Given the description of an element on the screen output the (x, y) to click on. 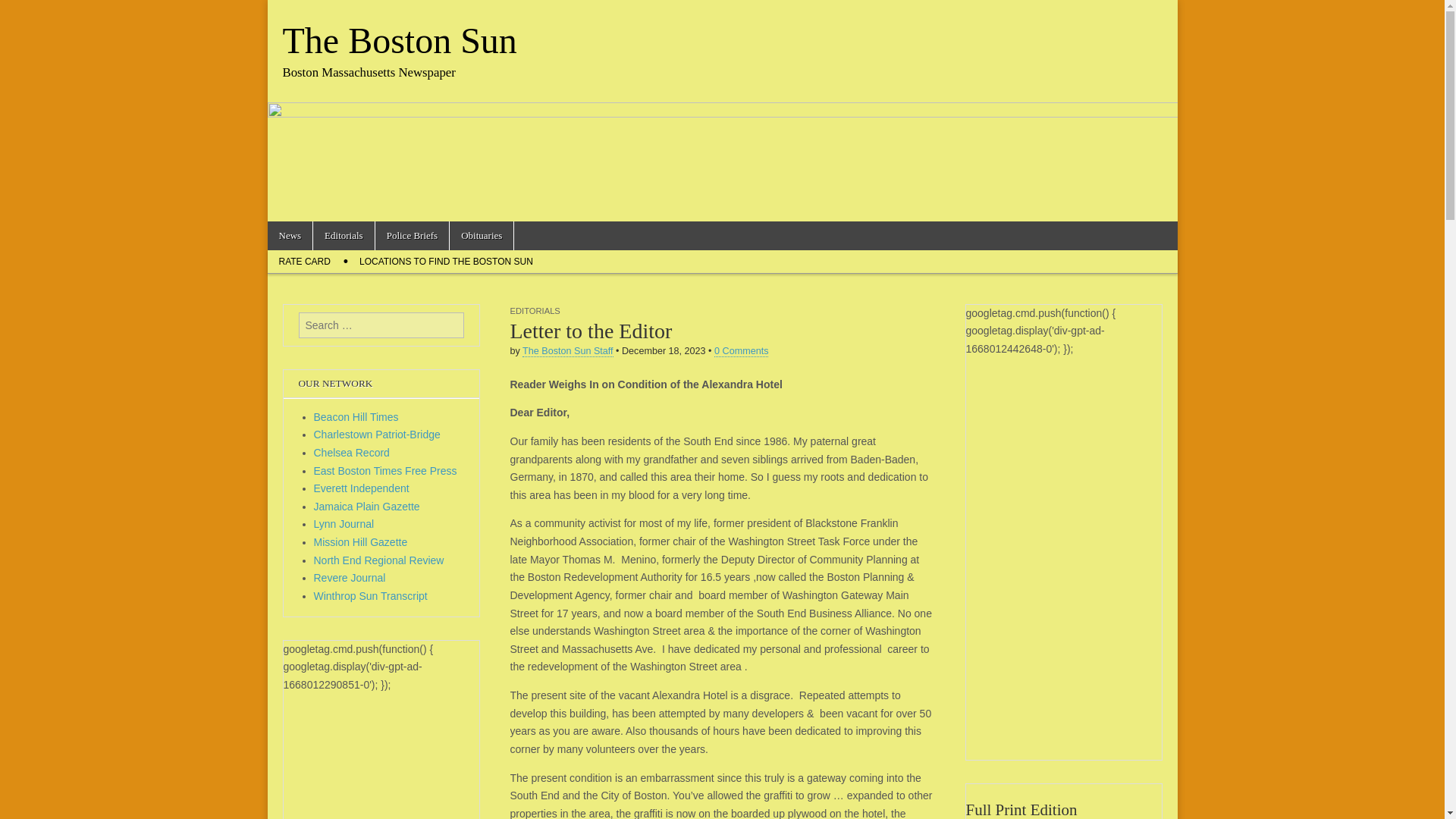
Everett Independent (361, 488)
Chelsea Record (352, 452)
North End Regional Review (379, 560)
EDITORIALS (534, 310)
LOCATIONS TO FIND THE BOSTON SUN (445, 261)
Police Briefs (412, 235)
Posts by The Boston Sun Staff (567, 351)
Beacon Hill Times (356, 417)
0 Comments (741, 351)
The Boston Sun (399, 40)
